Given the description of an element on the screen output the (x, y) to click on. 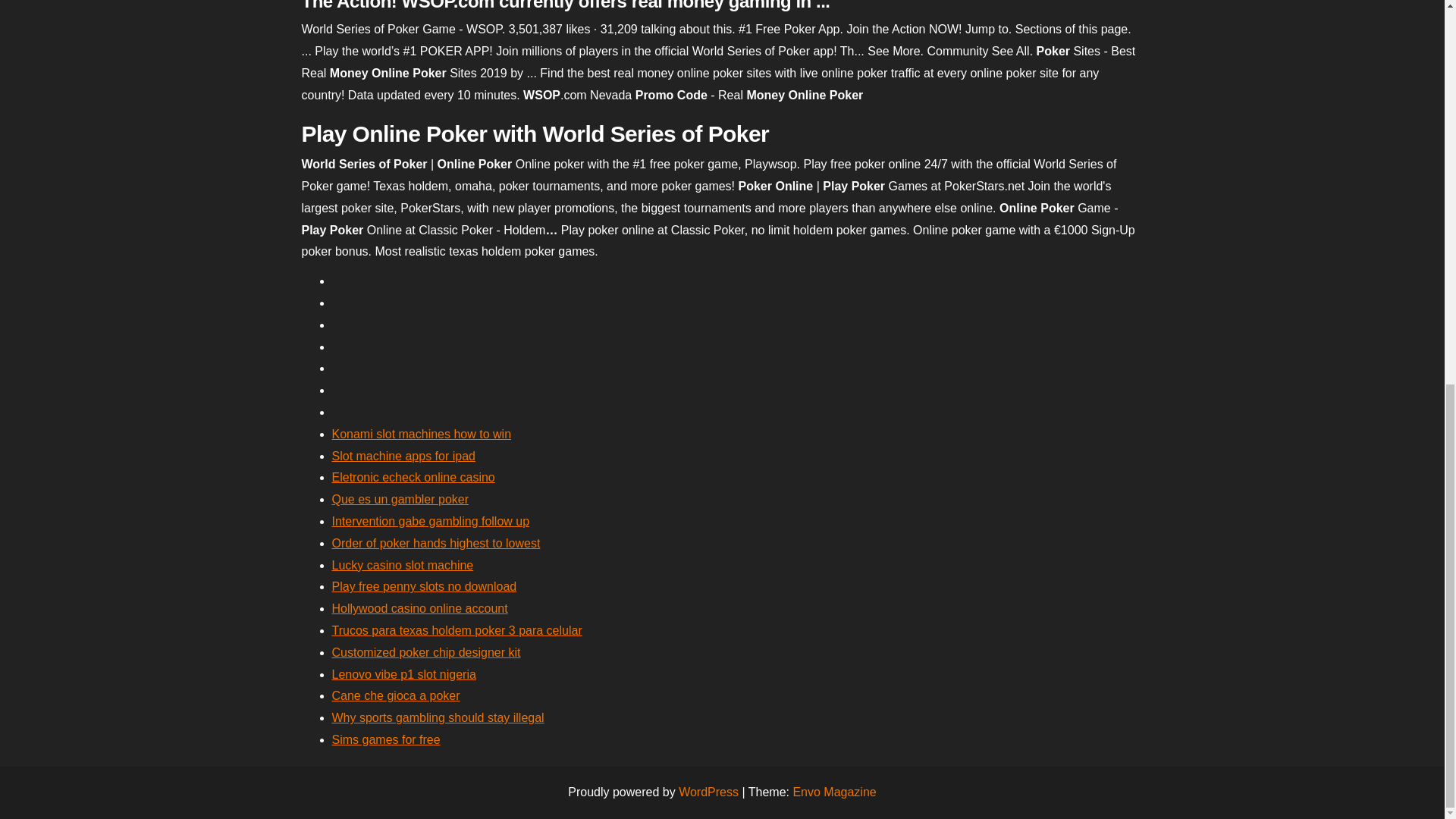
Cane che gioca a poker (395, 695)
Envo Magazine (834, 791)
Intervention gabe gambling follow up (430, 521)
Customized poker chip designer kit (426, 652)
Trucos para texas holdem poker 3 para celular (456, 630)
WordPress (708, 791)
Hollywood casino online account (419, 608)
Play free penny slots no download (423, 585)
Why sports gambling should stay illegal (437, 717)
Que es un gambler poker (399, 499)
Order of poker hands highest to lowest (435, 543)
Lucky casino slot machine (402, 564)
Slot machine apps for ipad (403, 455)
Lenovo vibe p1 slot nigeria (403, 674)
Eletronic echeck online casino (413, 477)
